Given the description of an element on the screen output the (x, y) to click on. 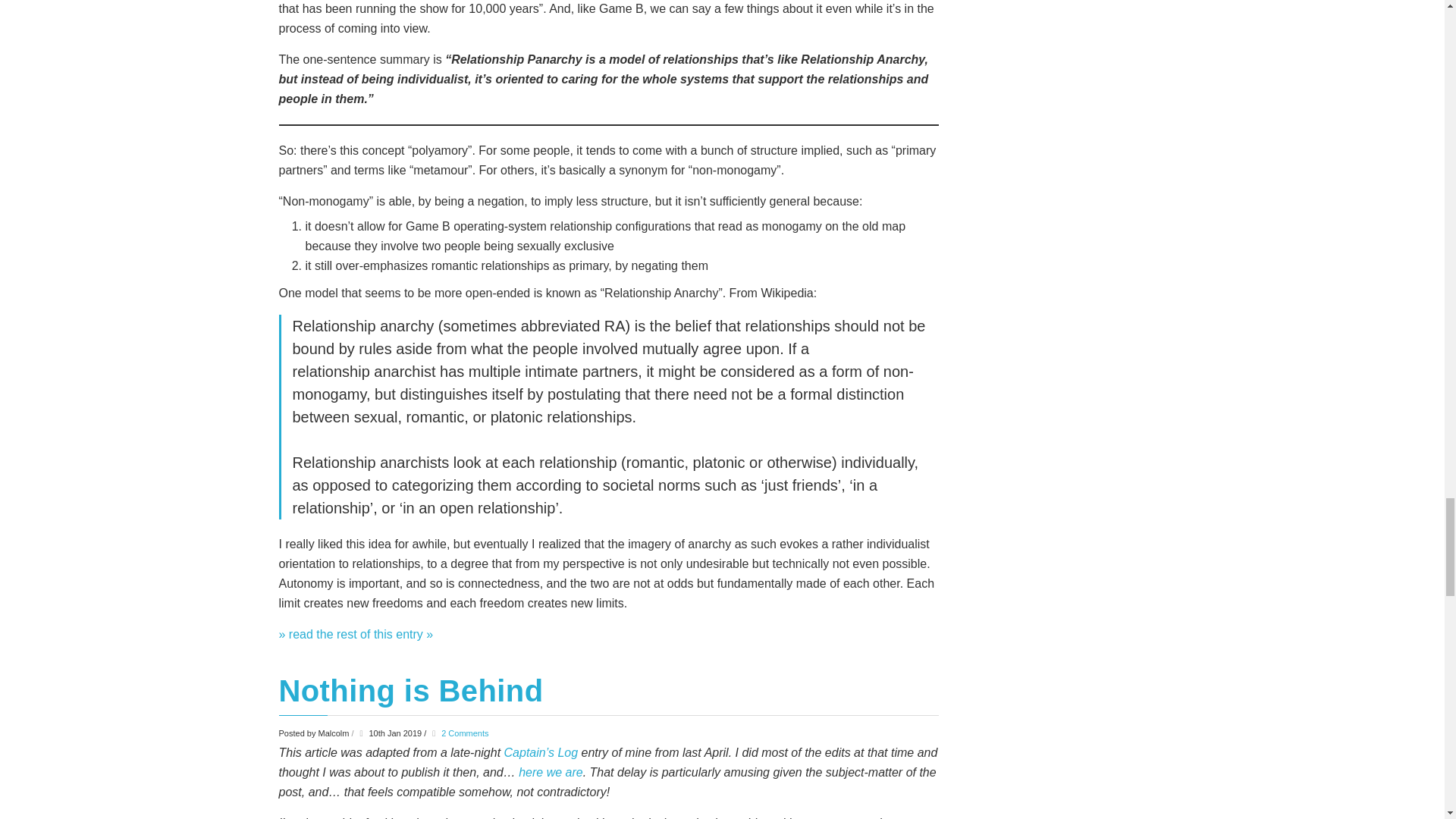
2 Comments (464, 732)
Nothing is Behind (411, 690)
2 Comments (464, 732)
